Given the description of an element on the screen output the (x, y) to click on. 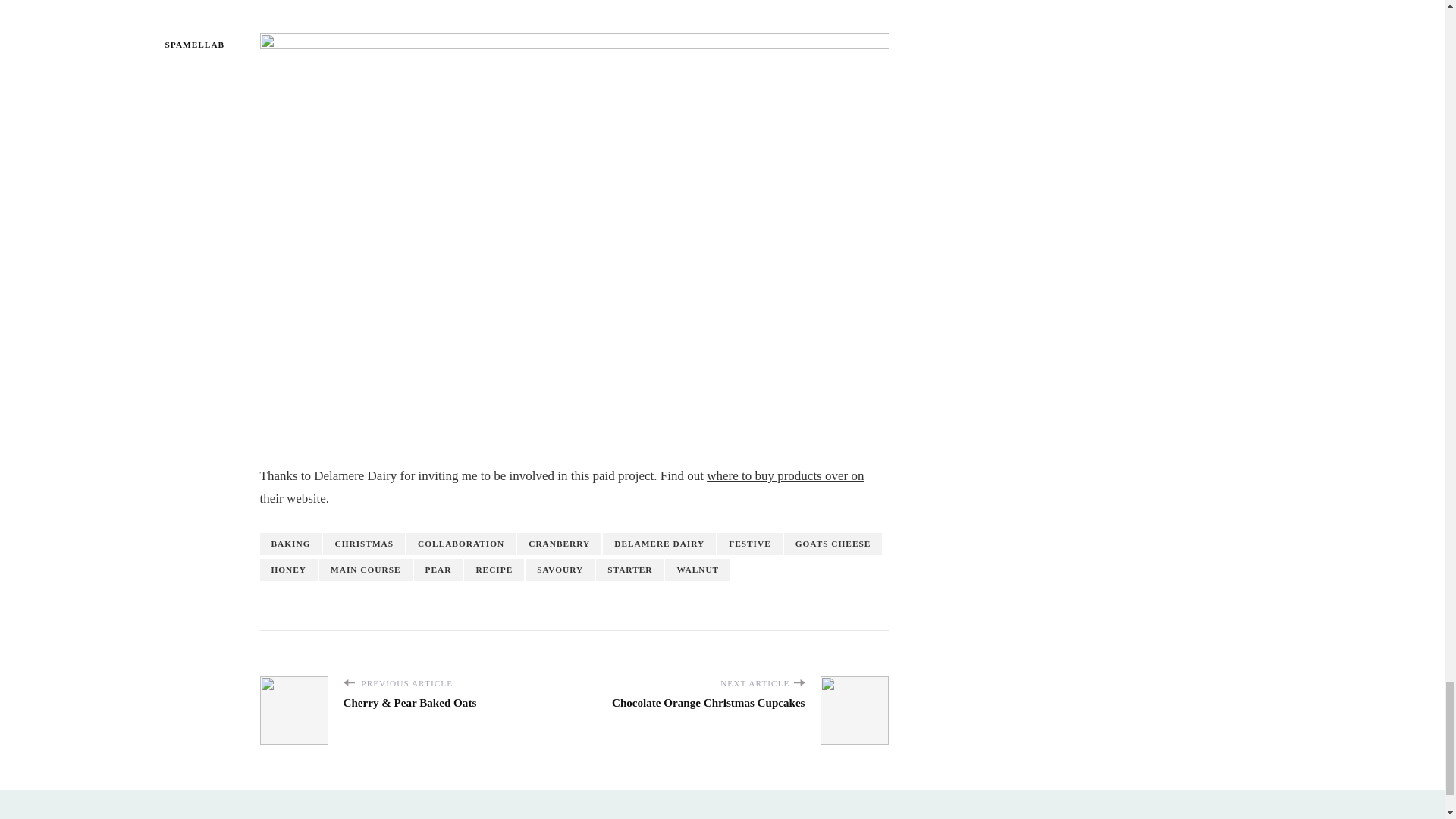
CHRISTMAS (363, 544)
WALNUT (697, 569)
STARTER (629, 569)
GOATS CHEESE (833, 544)
CRANBERRY (558, 544)
FESTIVE (749, 544)
PEAR (438, 569)
SAVOURY (559, 569)
where to buy products over on their website (561, 487)
HONEY (288, 569)
